Given the description of an element on the screen output the (x, y) to click on. 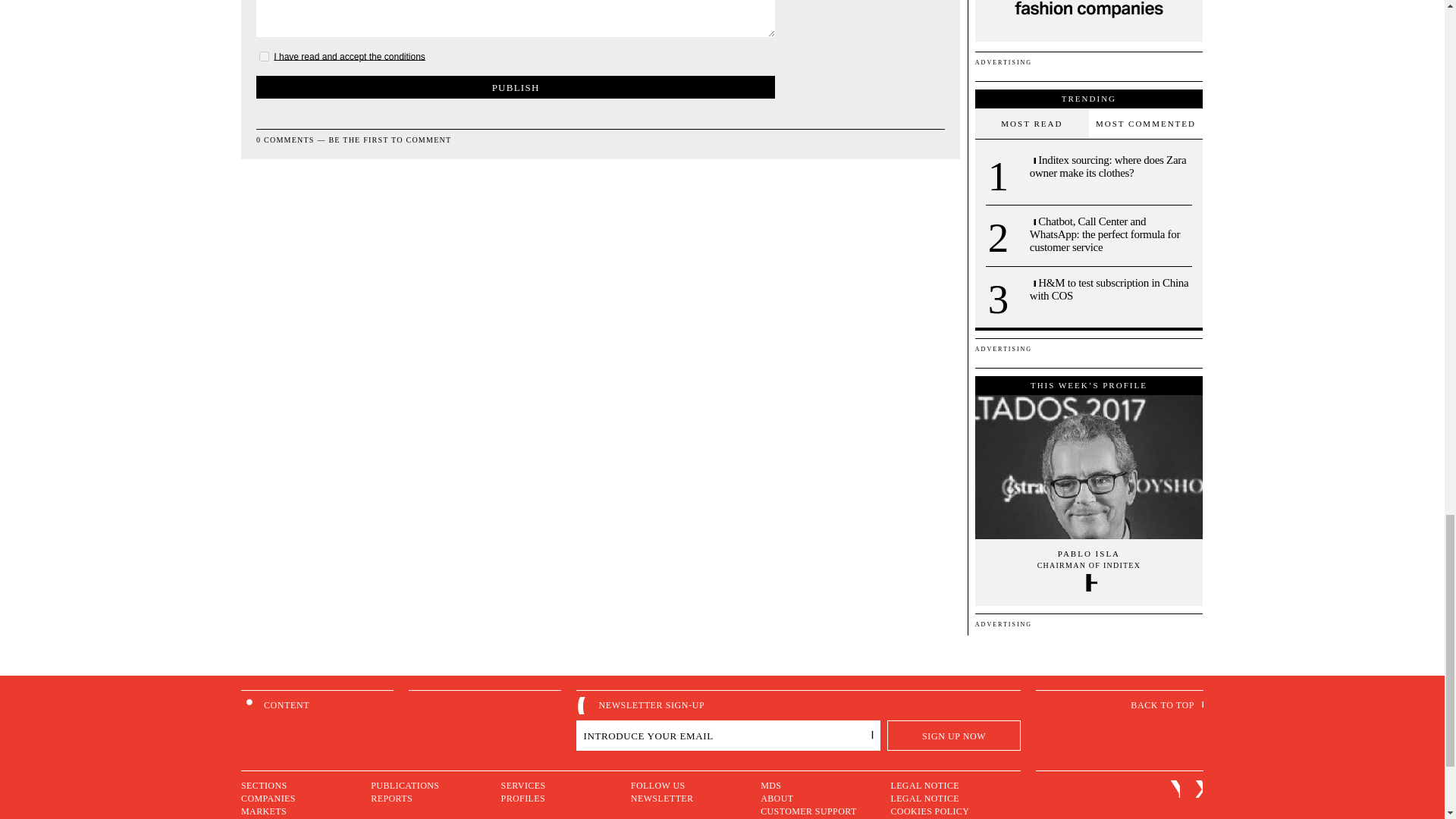
MOST READ (1032, 123)
PUBLISH (515, 87)
k Inditex sourcing: where does Zara owner make its clothes? (1110, 166)
1 (264, 56)
I have read and accept the conditions (349, 55)
MOST COMMENTED (1145, 123)
